Given the description of an element on the screen output the (x, y) to click on. 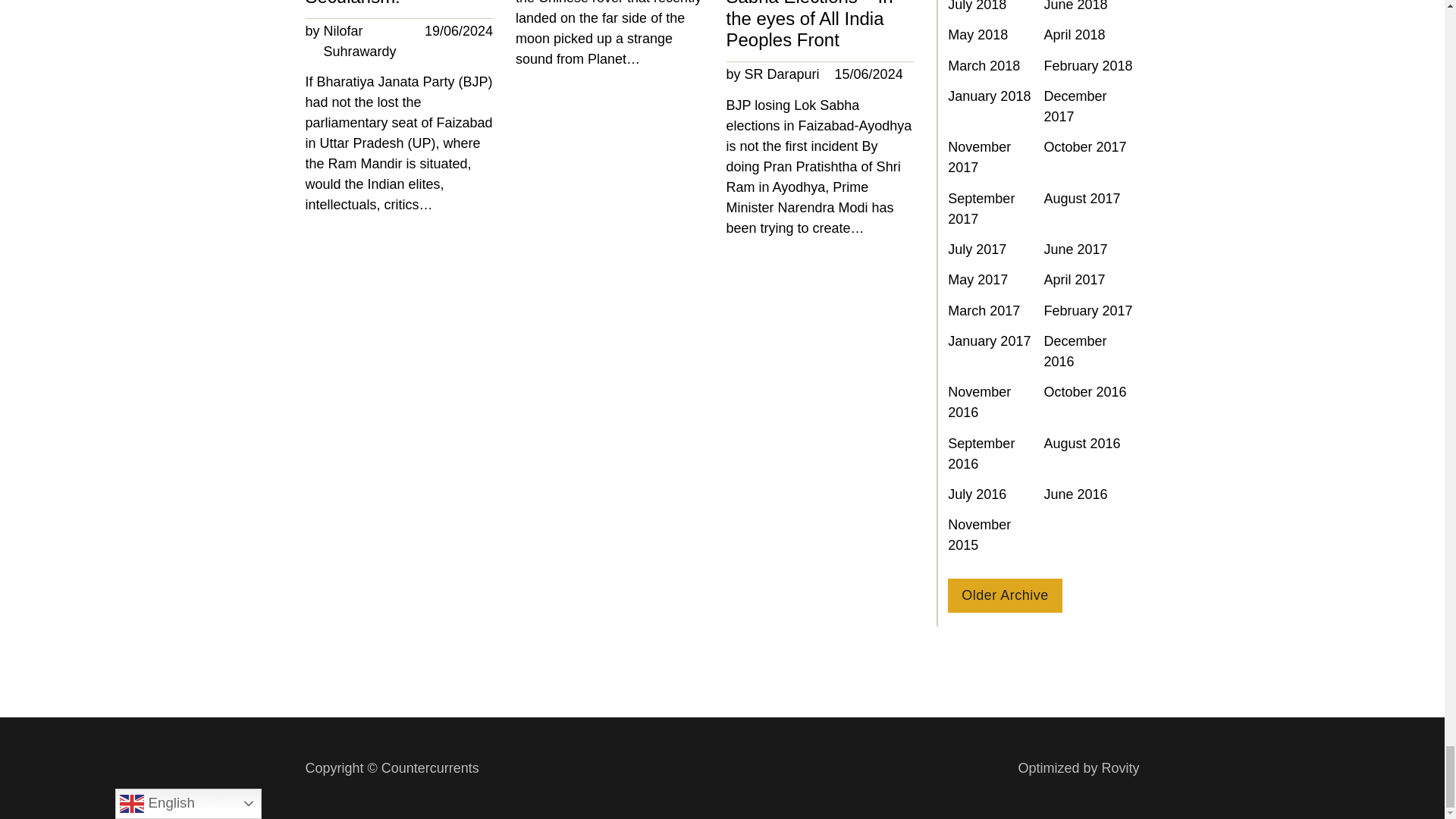
Rovity (1077, 768)
